Given the description of an element on the screen output the (x, y) to click on. 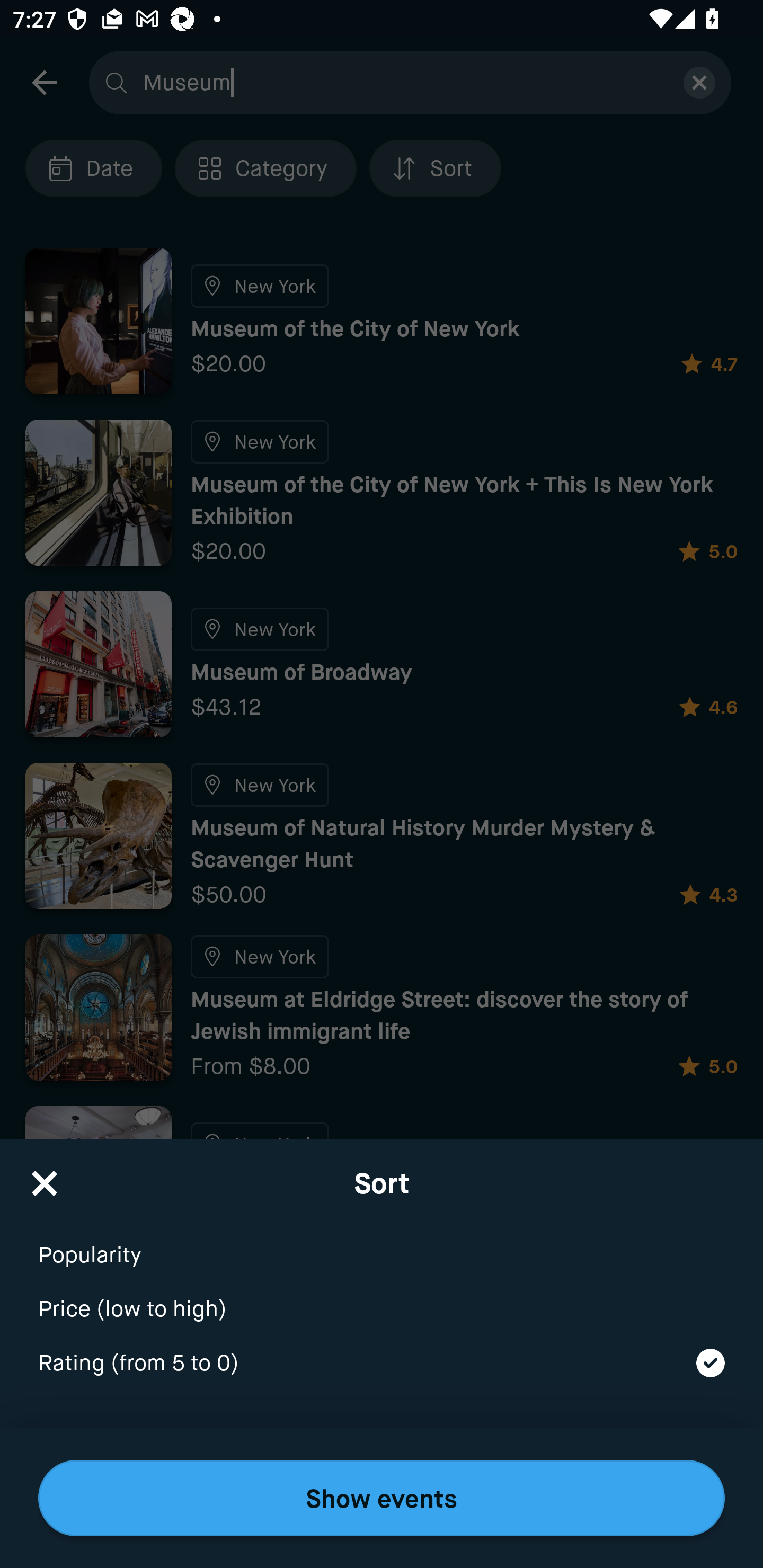
CloseButton (44, 1177)
Popularity (381, 1243)
Price (low to high) (381, 1297)
Rating (from 5 to 0) Selected Icon (381, 1362)
Show events (381, 1497)
